Given the description of an element on the screen output the (x, y) to click on. 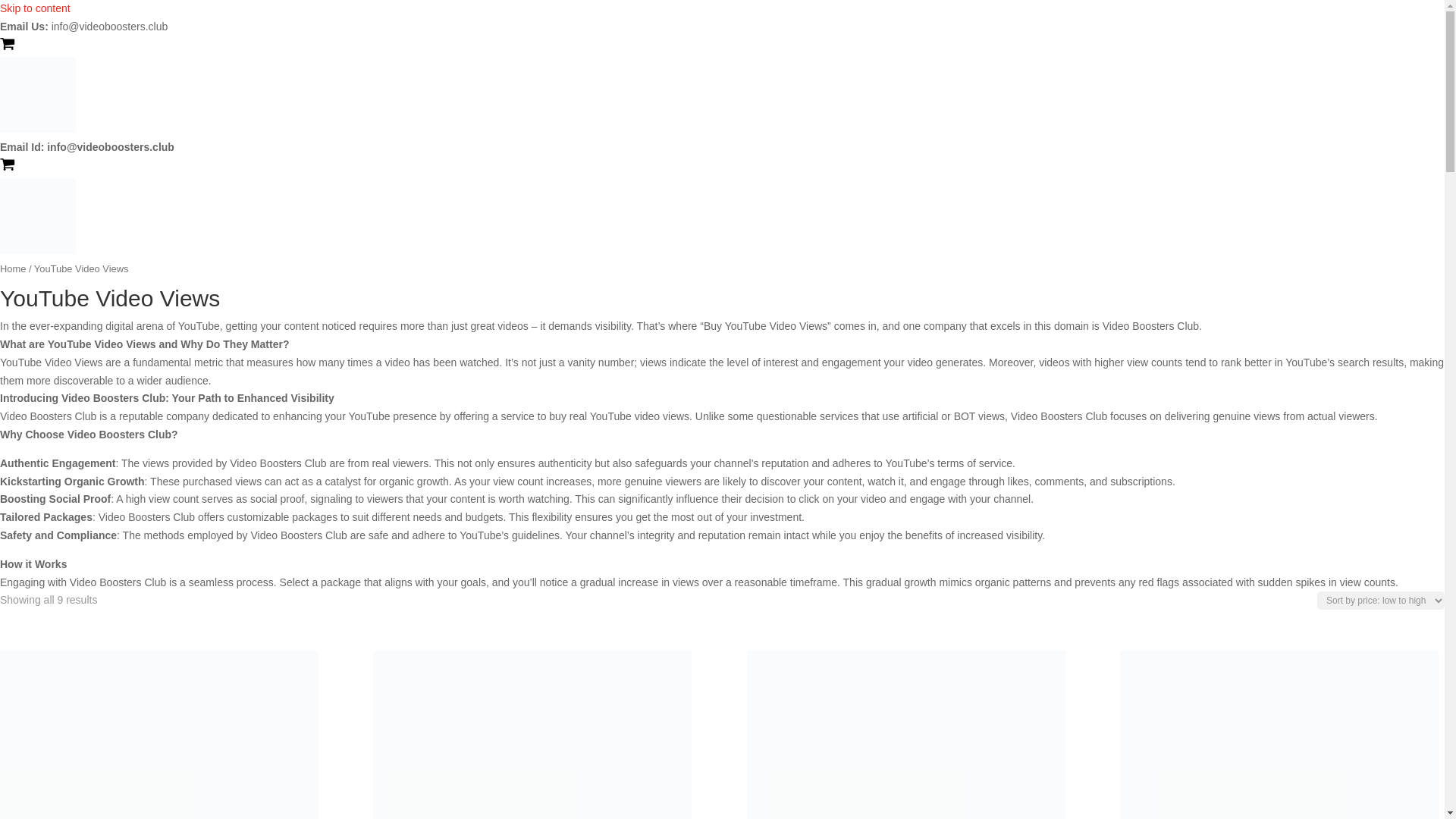
Skip to content (34, 8)
Home (13, 268)
Skip to content (34, 8)
